Given the description of an element on the screen output the (x, y) to click on. 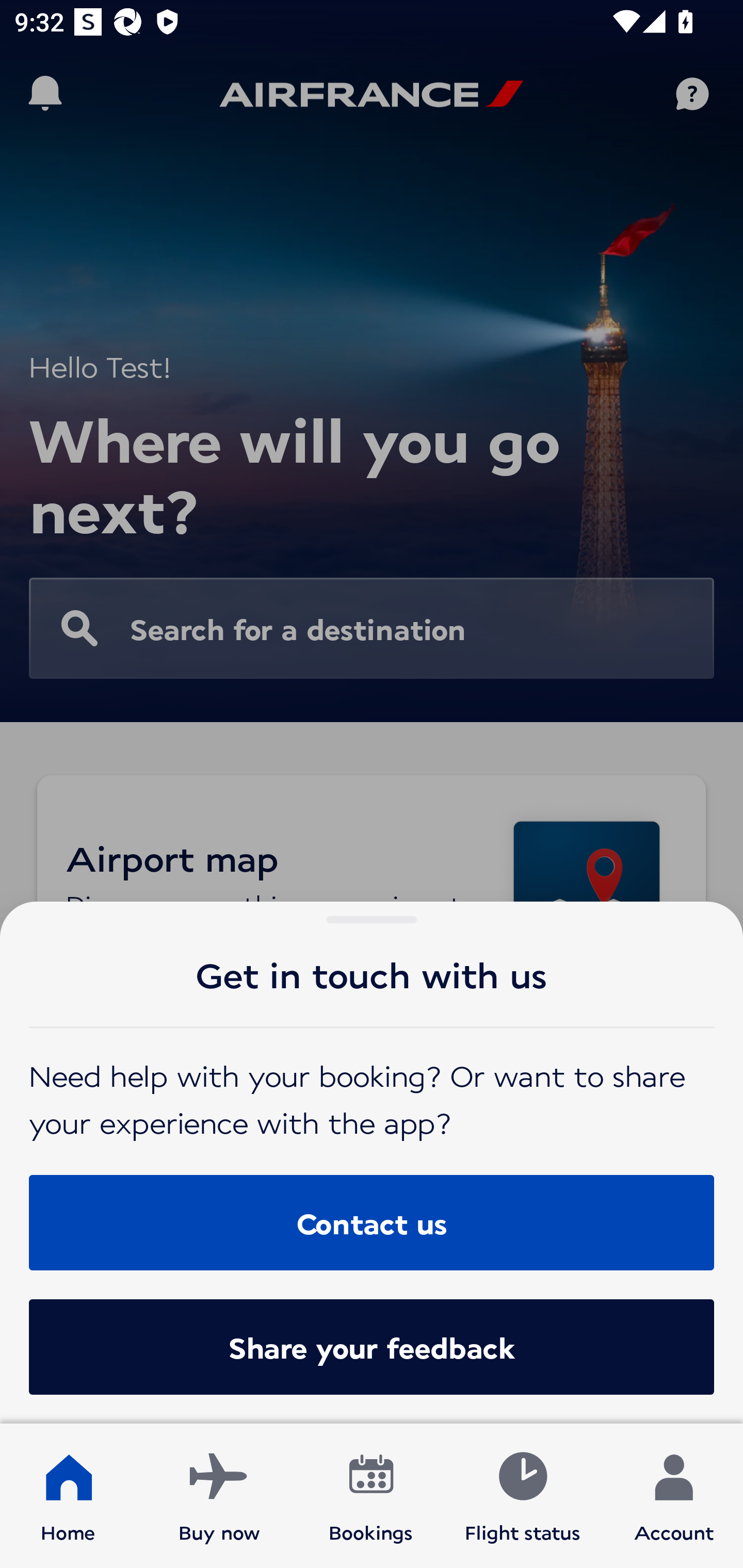
Contact us (371, 1222)
Share your feedback (371, 1346)
Buy now (219, 1495)
Bookings (370, 1495)
Flight status (522, 1495)
Account (674, 1495)
